Given the description of an element on the screen output the (x, y) to click on. 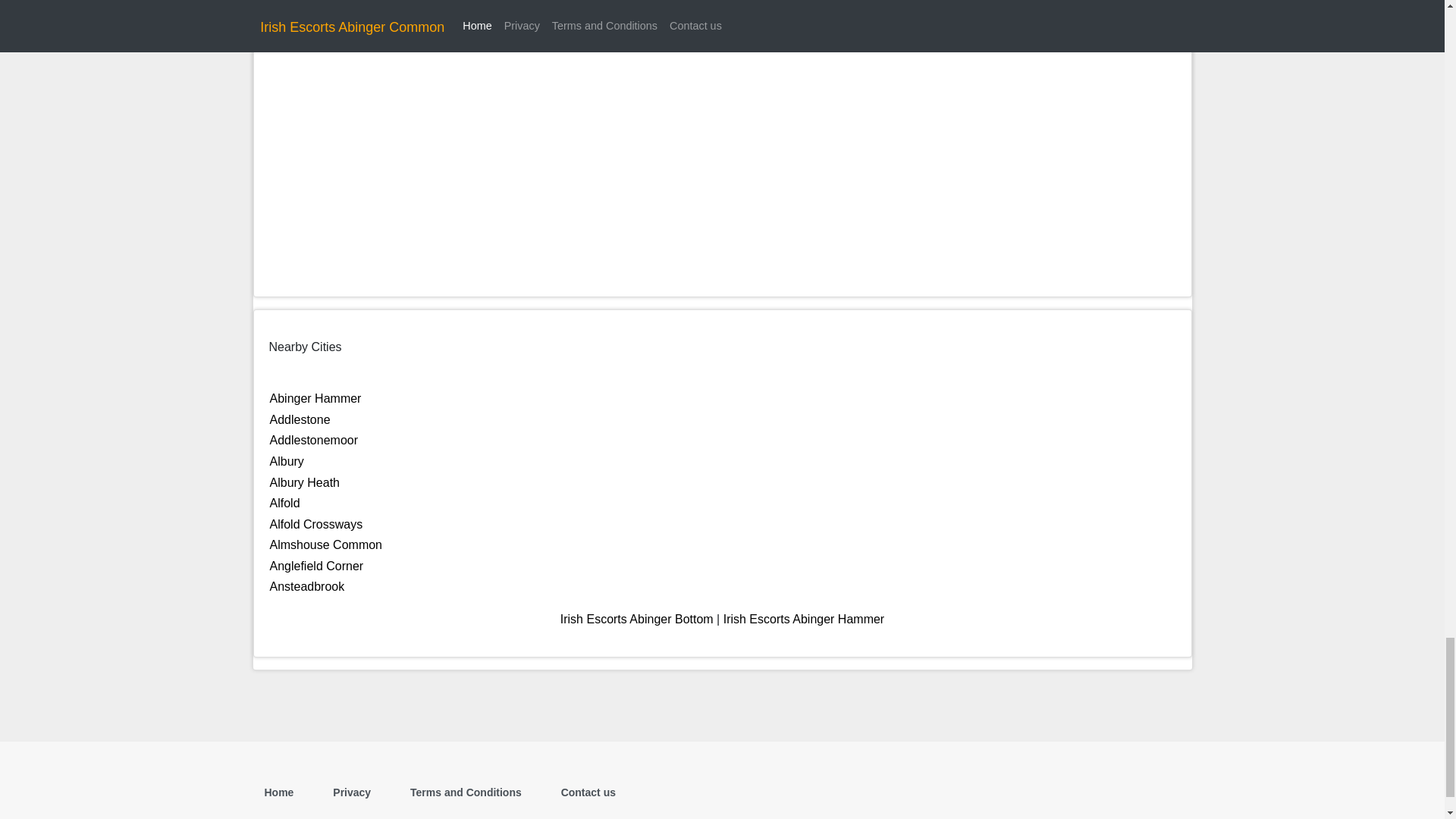
Alfold Crossways (315, 523)
Addlestonemoor (313, 440)
Addlestone (299, 419)
Ansteadbrook (307, 585)
Albury (286, 461)
Alfold (284, 502)
Irish Escorts Abinger Bottom (636, 618)
Albury Heath (304, 481)
Almshouse Common (325, 544)
Anglefield Corner (316, 565)
Abinger Hammer (315, 398)
Irish Escorts Abinger Hammer (804, 618)
